Given the description of an element on the screen output the (x, y) to click on. 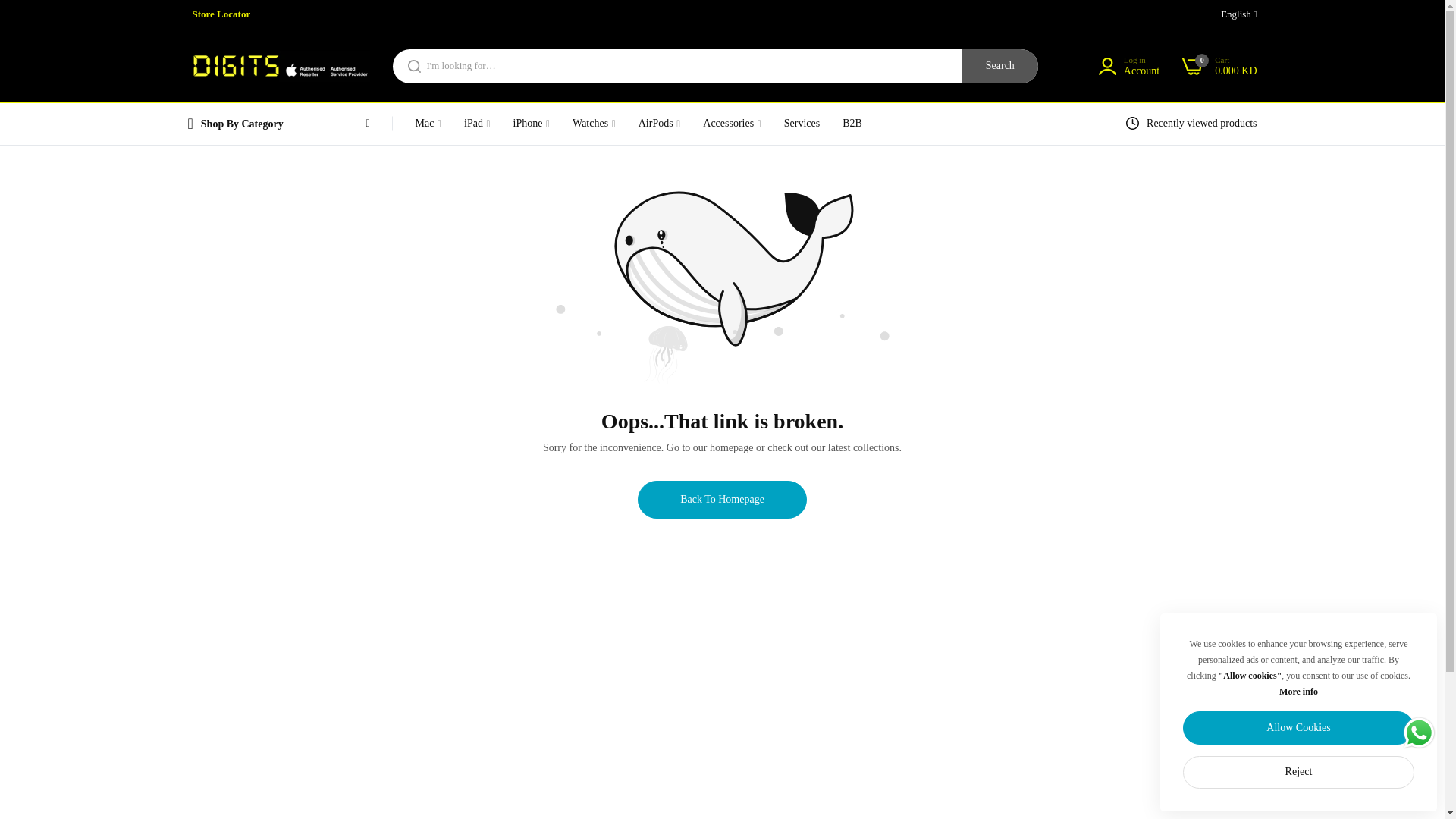
Account (1141, 71)
Search (1000, 66)
Store Locator (1219, 66)
Privacy Policy (1128, 66)
Log in (221, 13)
